Given the description of an element on the screen output the (x, y) to click on. 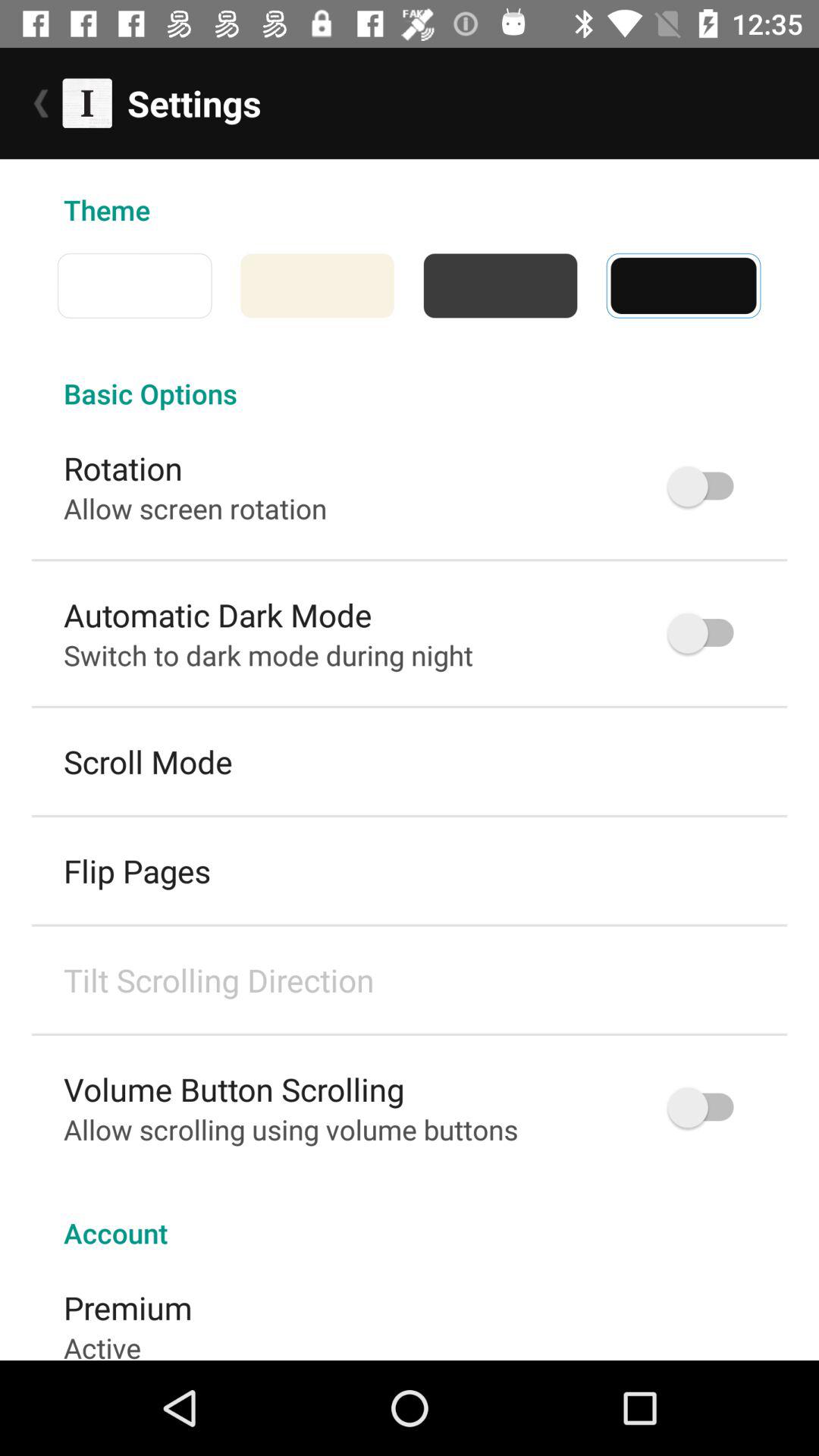
launch the scroll mode icon (147, 761)
